Given the description of an element on the screen output the (x, y) to click on. 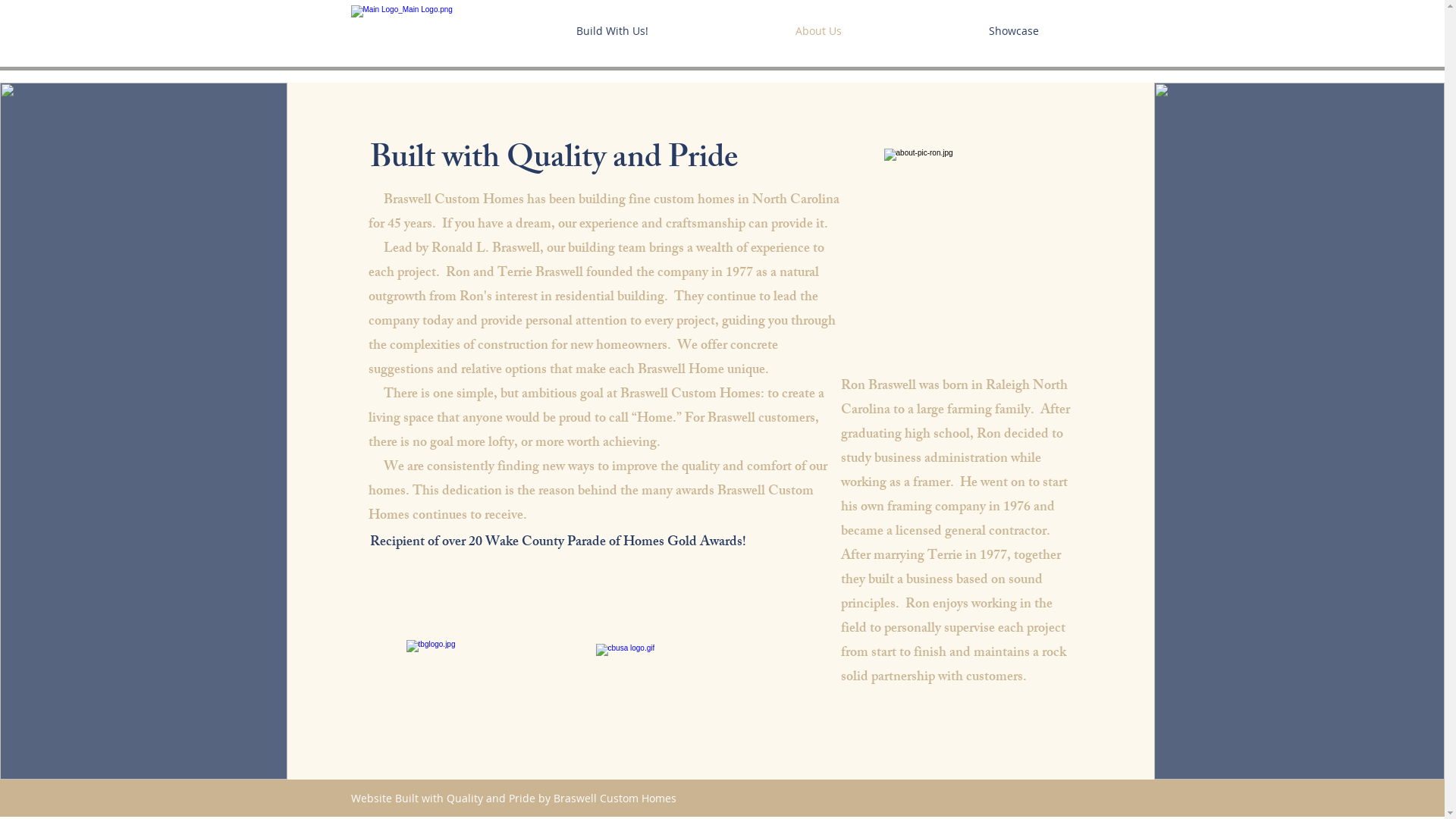
Showcase Element type: text (1012, 30)
About Us Element type: text (818, 30)
Build With Us! Element type: text (611, 30)
